Given the description of an element on the screen output the (x, y) to click on. 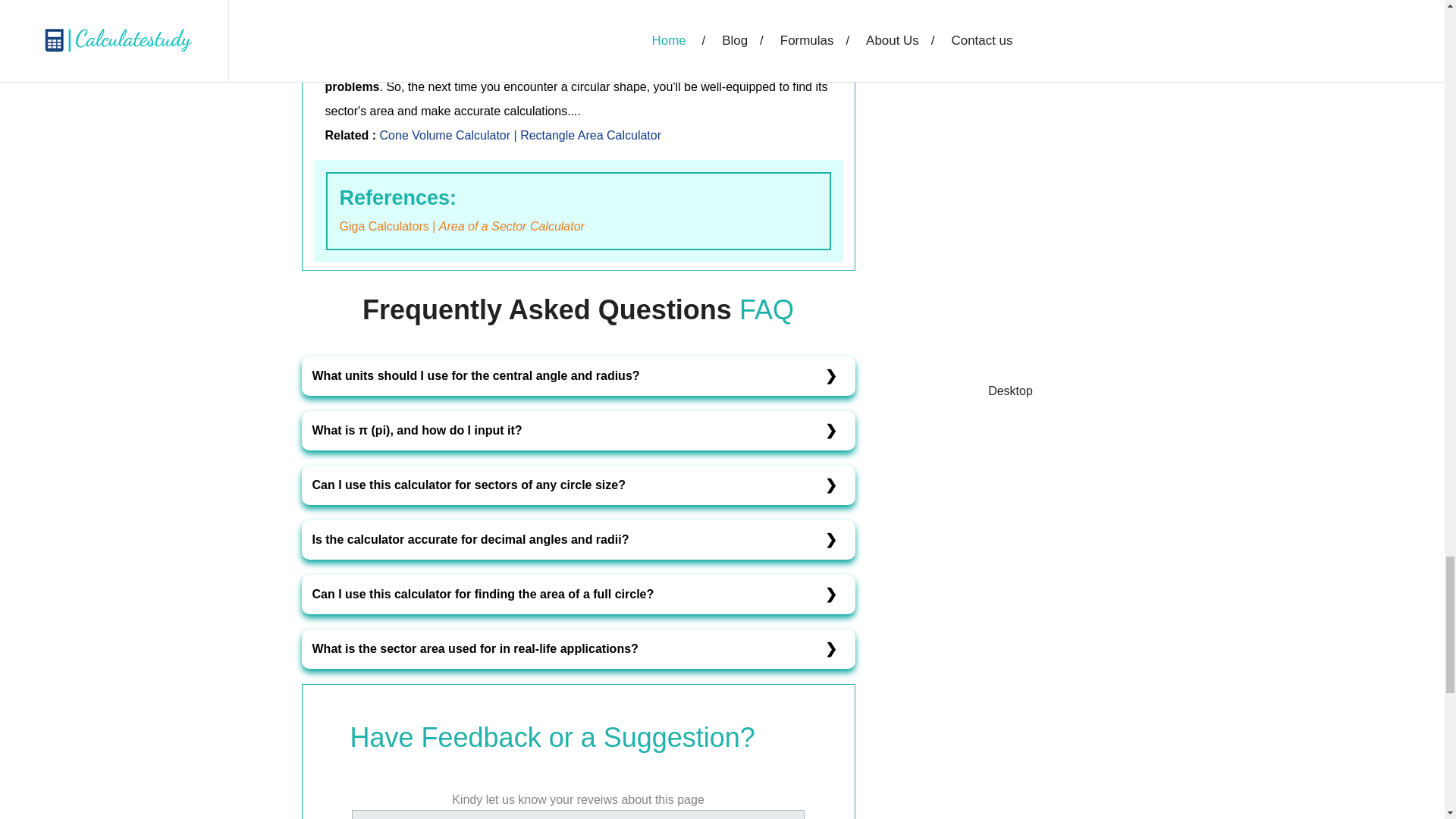
Rectangle Area Calculator (590, 134)
Area of a Sector Calculator (512, 226)
Cone Volume Calculator (446, 134)
